Given the description of an element on the screen output the (x, y) to click on. 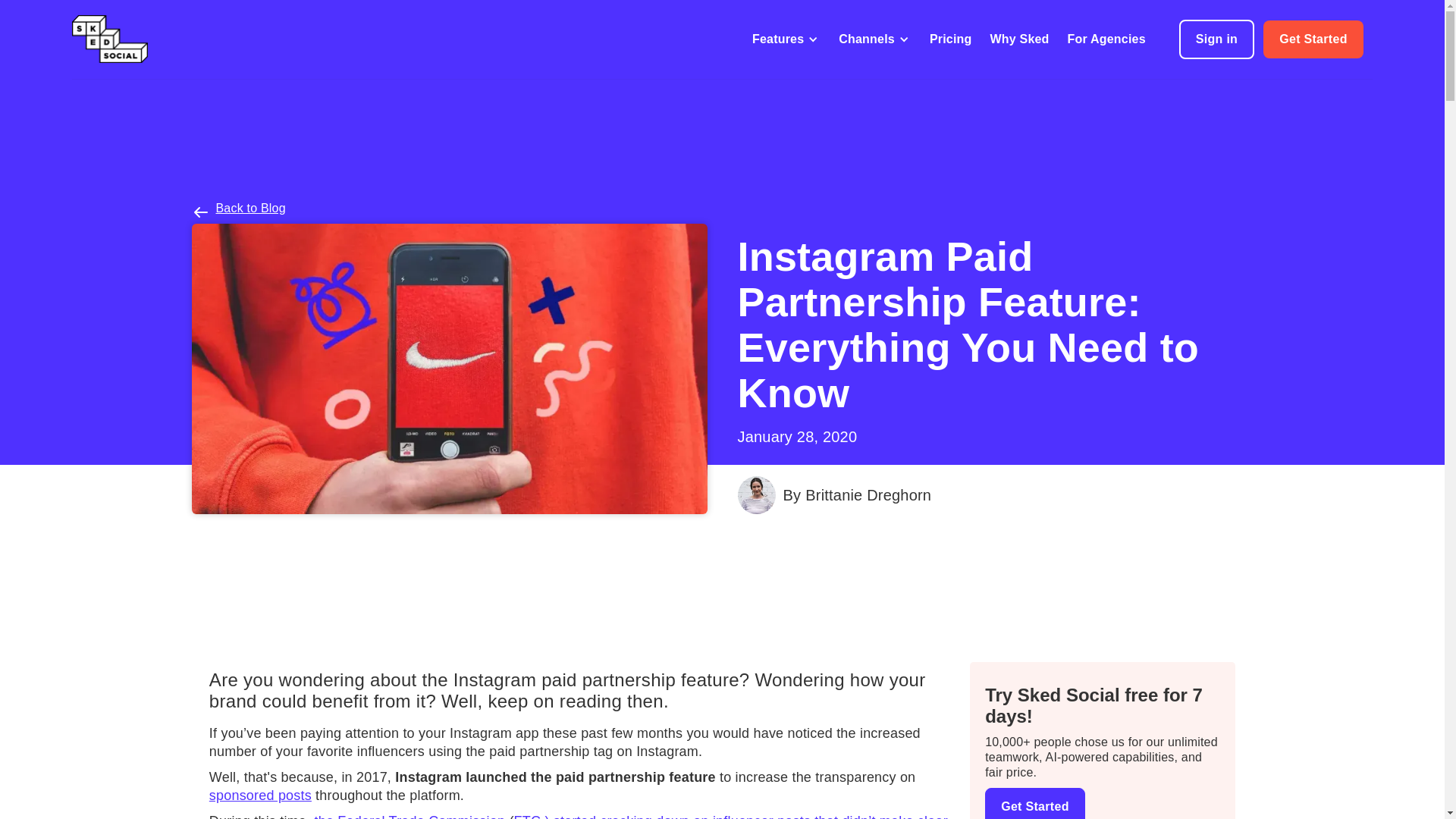
For Agencies (1106, 39)
sponsored posts (260, 795)
Back to Blog (250, 208)
Get Started (1312, 39)
Sign in (1216, 38)
Why Sked (1019, 39)
the Federal Trade Commission (411, 816)
